Given the description of an element on the screen output the (x, y) to click on. 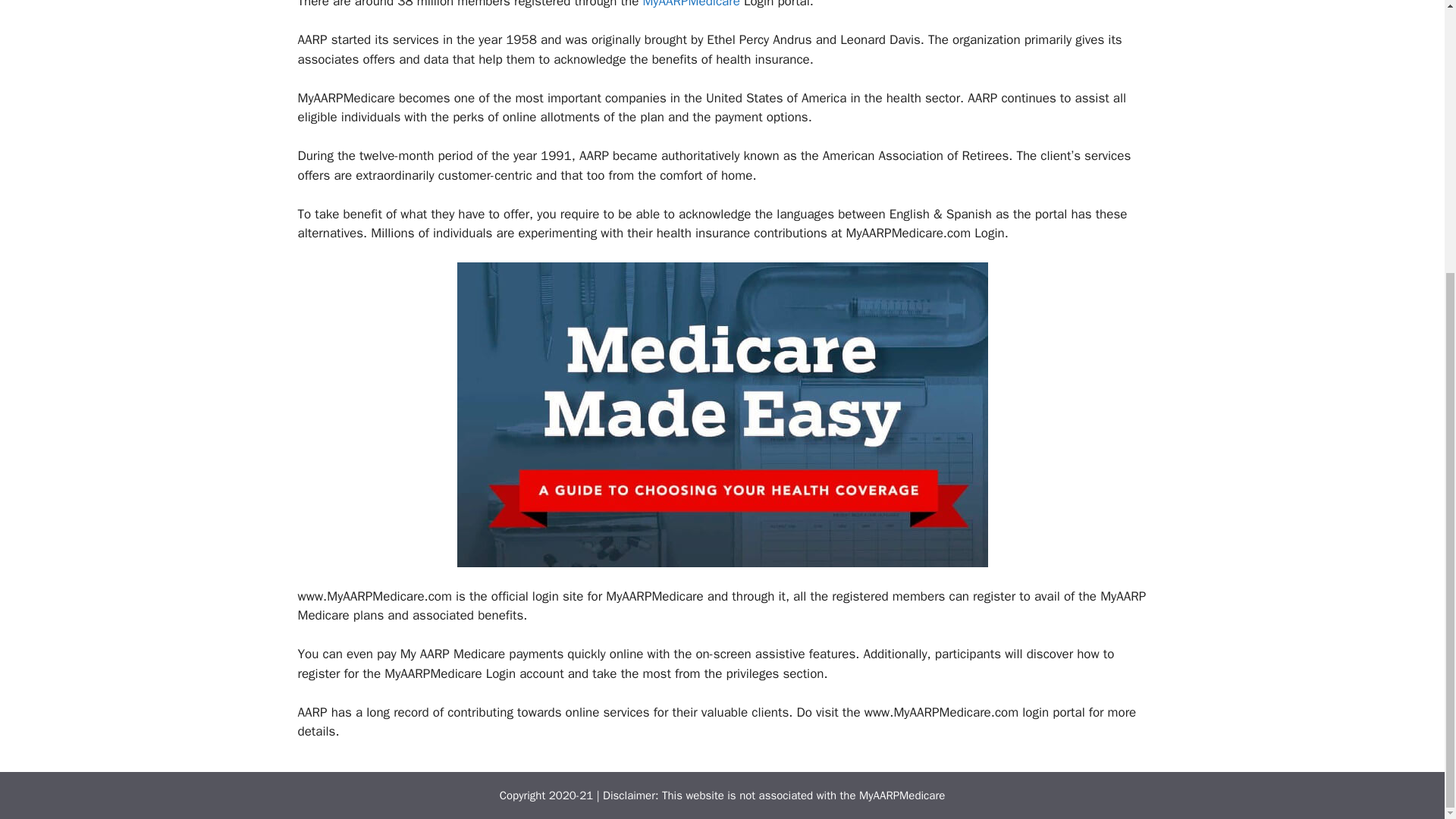
MyAARPMedicare (690, 4)
MyAARPMedicare (901, 795)
